Given the description of an element on the screen output the (x, y) to click on. 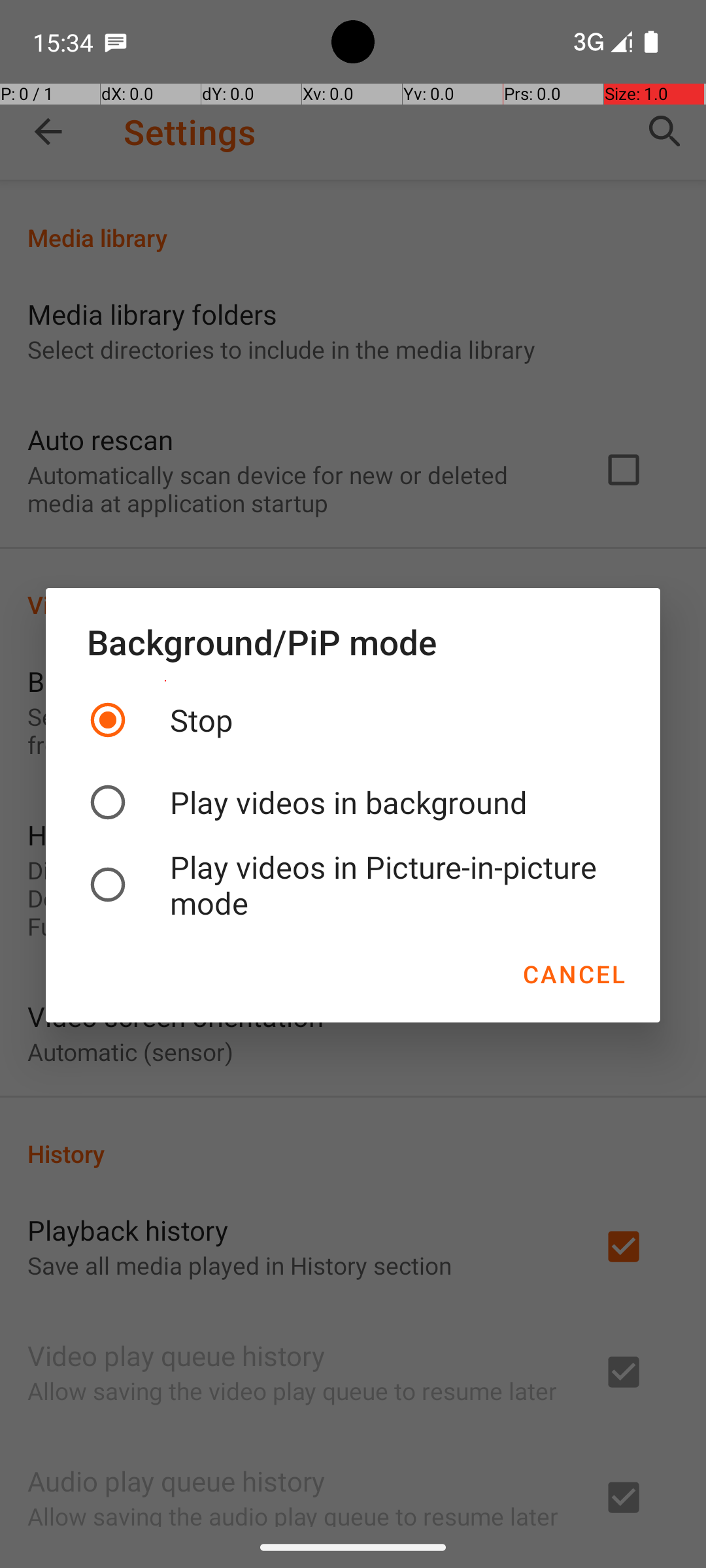
Background/PiP mode Element type: android.widget.TextView (352, 641)
Play videos in background Element type: android.widget.CheckedTextView (352, 802)
Play videos in Picture-in-picture mode Element type: android.widget.CheckedTextView (352, 884)
